Given the description of an element on the screen output the (x, y) to click on. 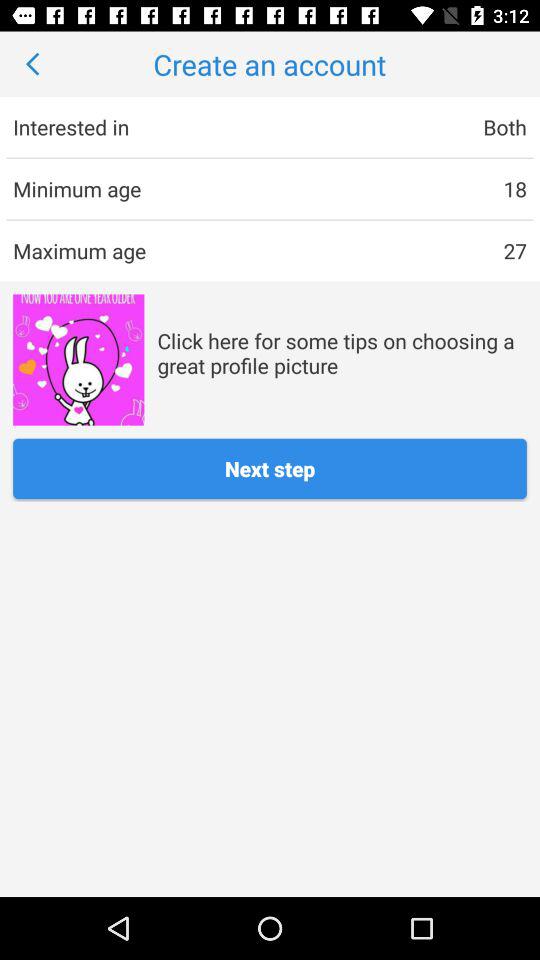
swipe to next step button (269, 468)
